Given the description of an element on the screen output the (x, y) to click on. 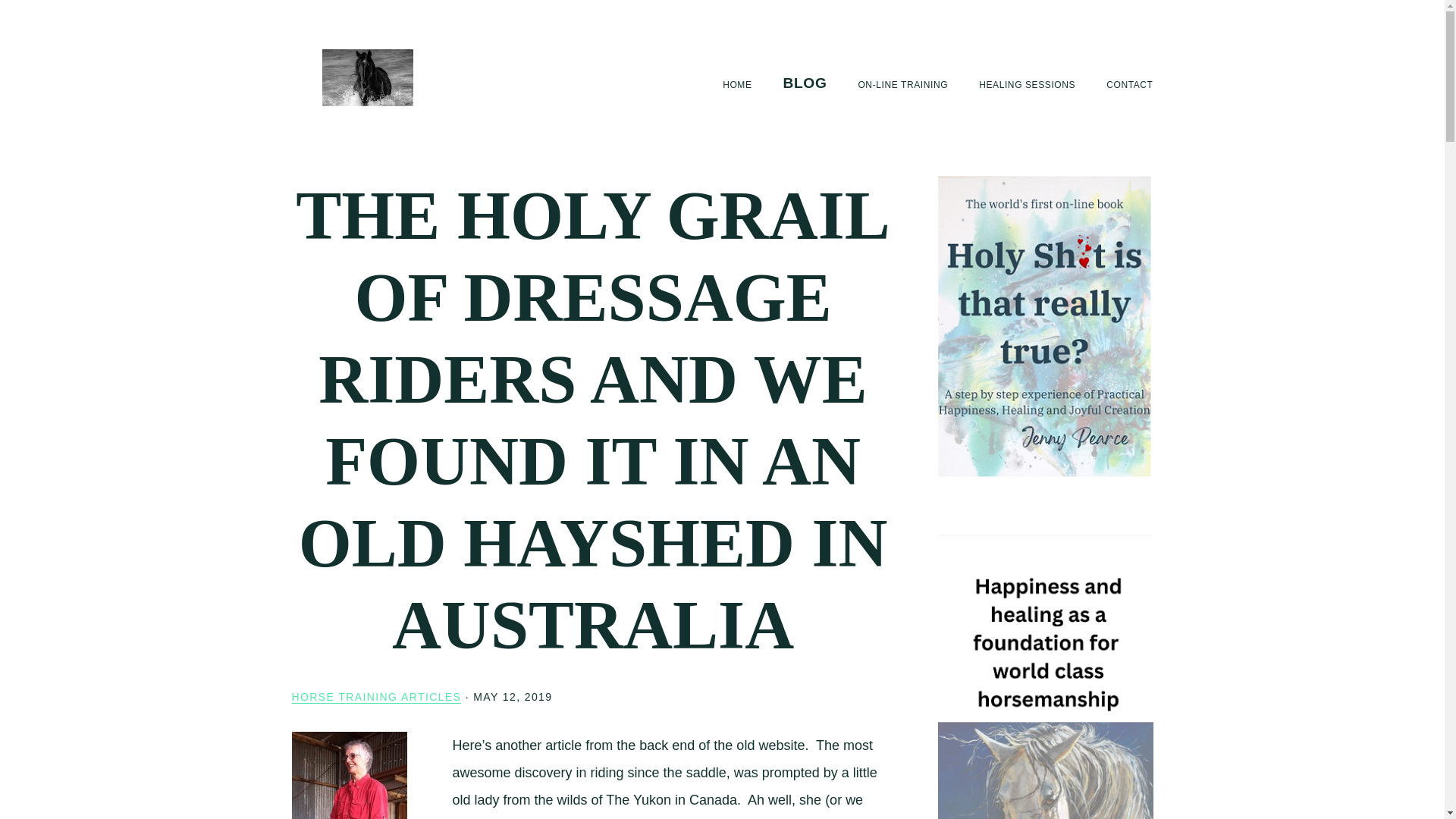
ON-LINE TRAINING (902, 85)
CONTACT (1129, 85)
BLOG (805, 83)
HORSE TRAINING ARTICLES (376, 697)
HEALING SESSIONS (1026, 85)
